Given the description of an element on the screen output the (x, y) to click on. 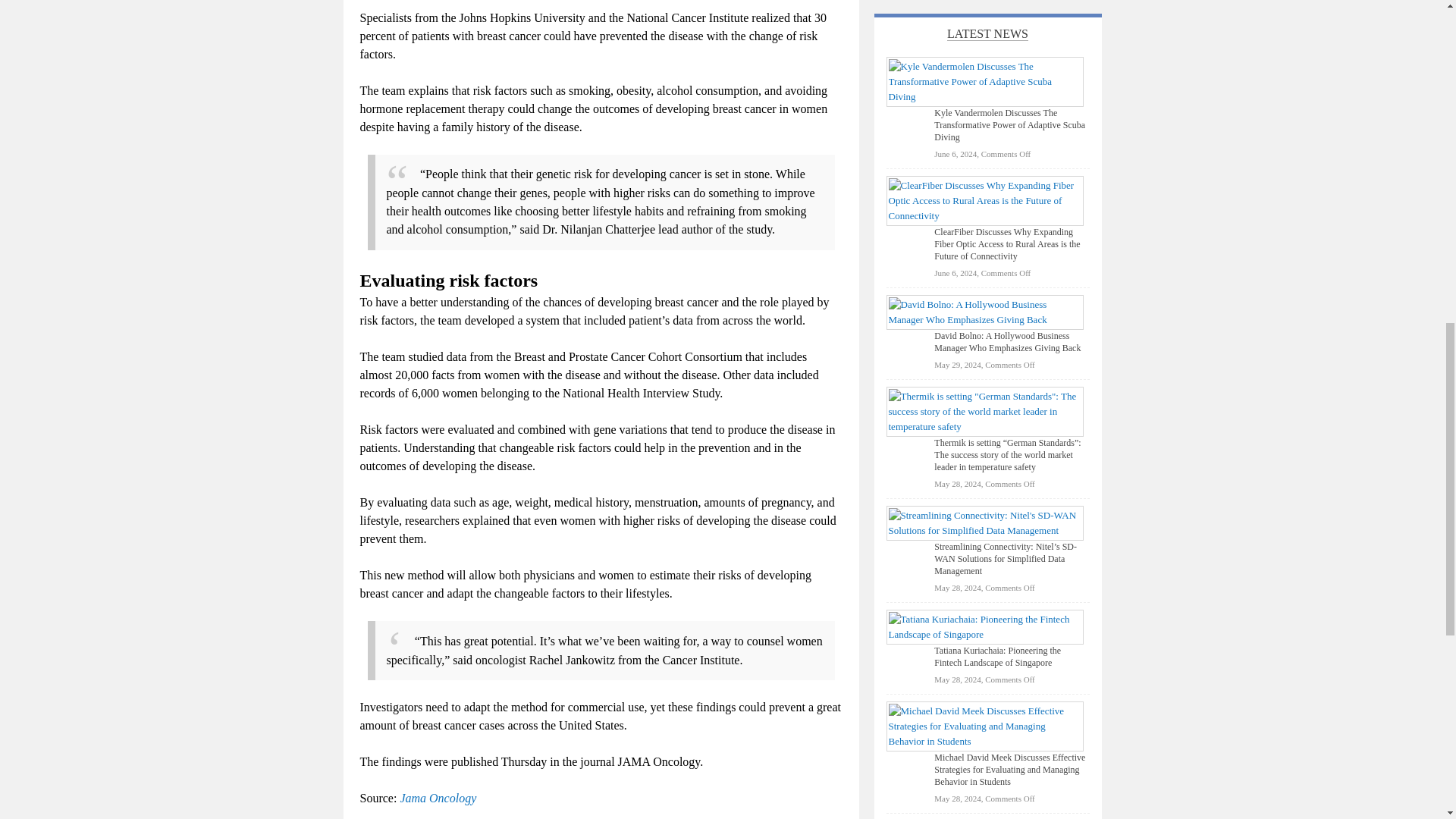
Jama Oncology (437, 797)
